Given the description of an element on the screen output the (x, y) to click on. 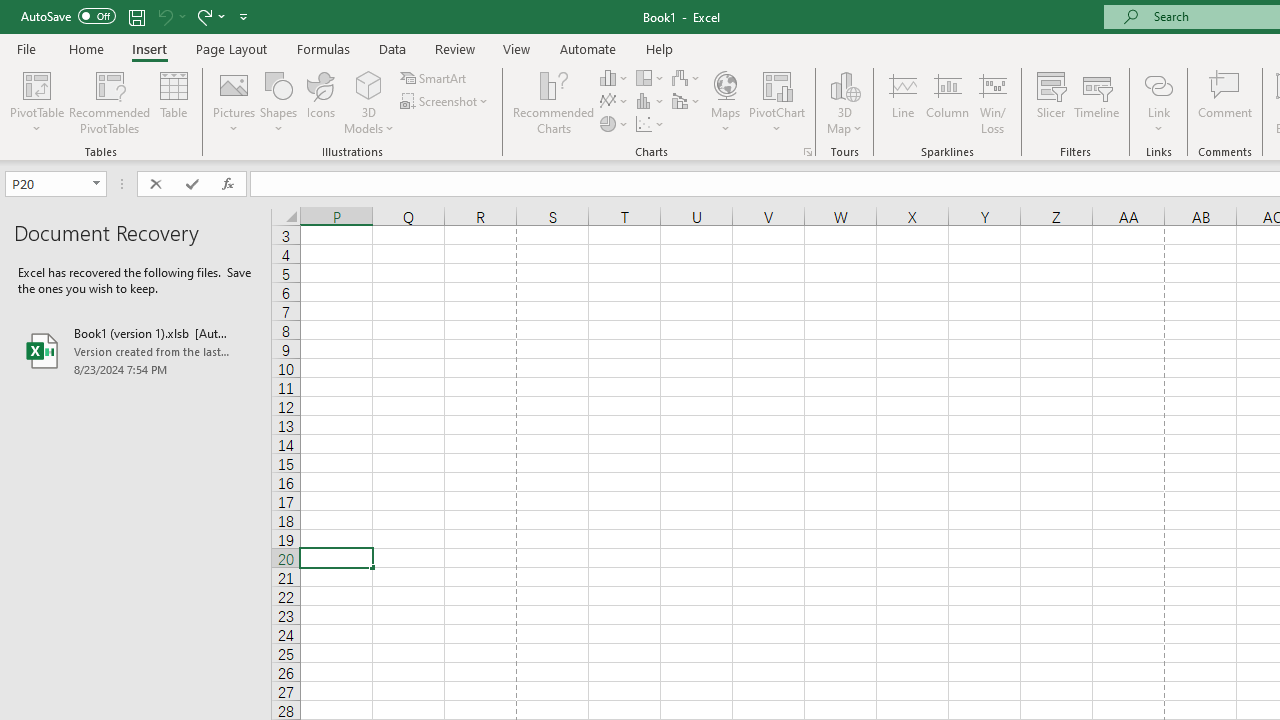
Table (173, 102)
Comment (1224, 102)
3D Models (368, 102)
SmartArt... (434, 78)
Column (947, 102)
Insert Line or Area Chart (614, 101)
Shapes (278, 102)
3D Map (845, 102)
Timeline (1097, 102)
